Given the description of an element on the screen output the (x, y) to click on. 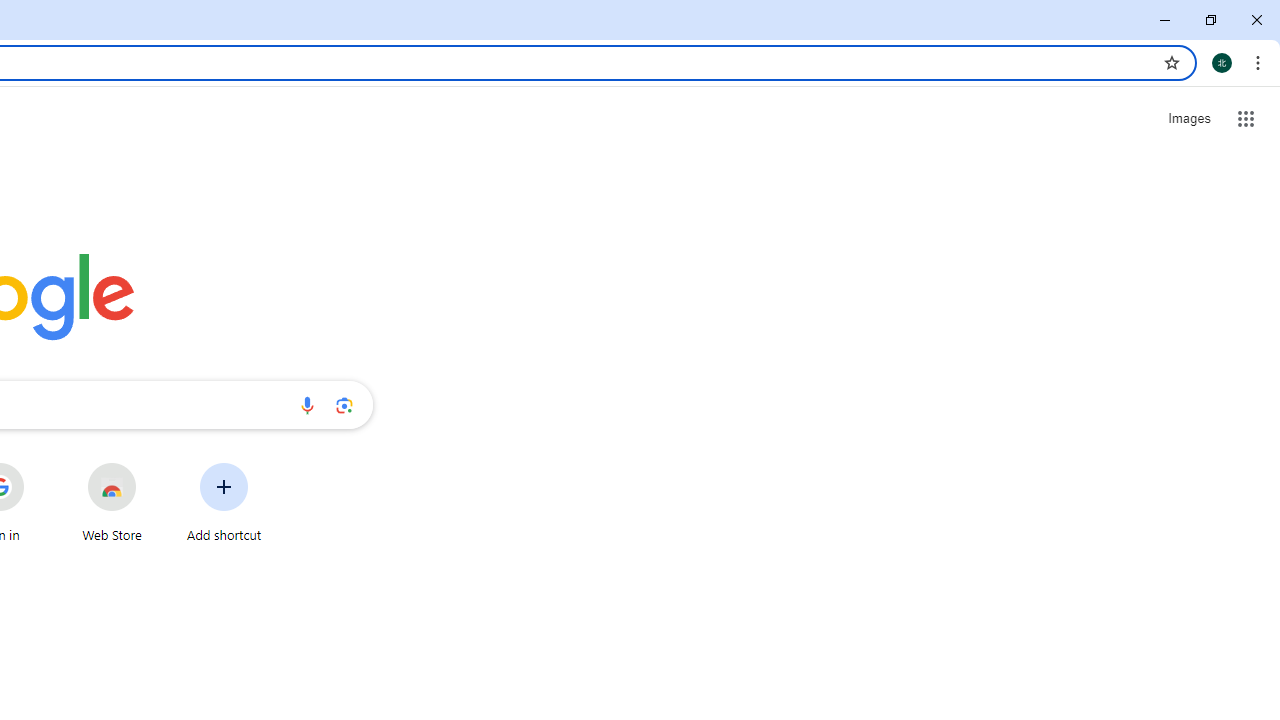
Web Store (111, 502)
More actions for Sign in shortcut (39, 464)
Add shortcut (223, 502)
More actions for Web Store shortcut (152, 464)
